Given the description of an element on the screen output the (x, y) to click on. 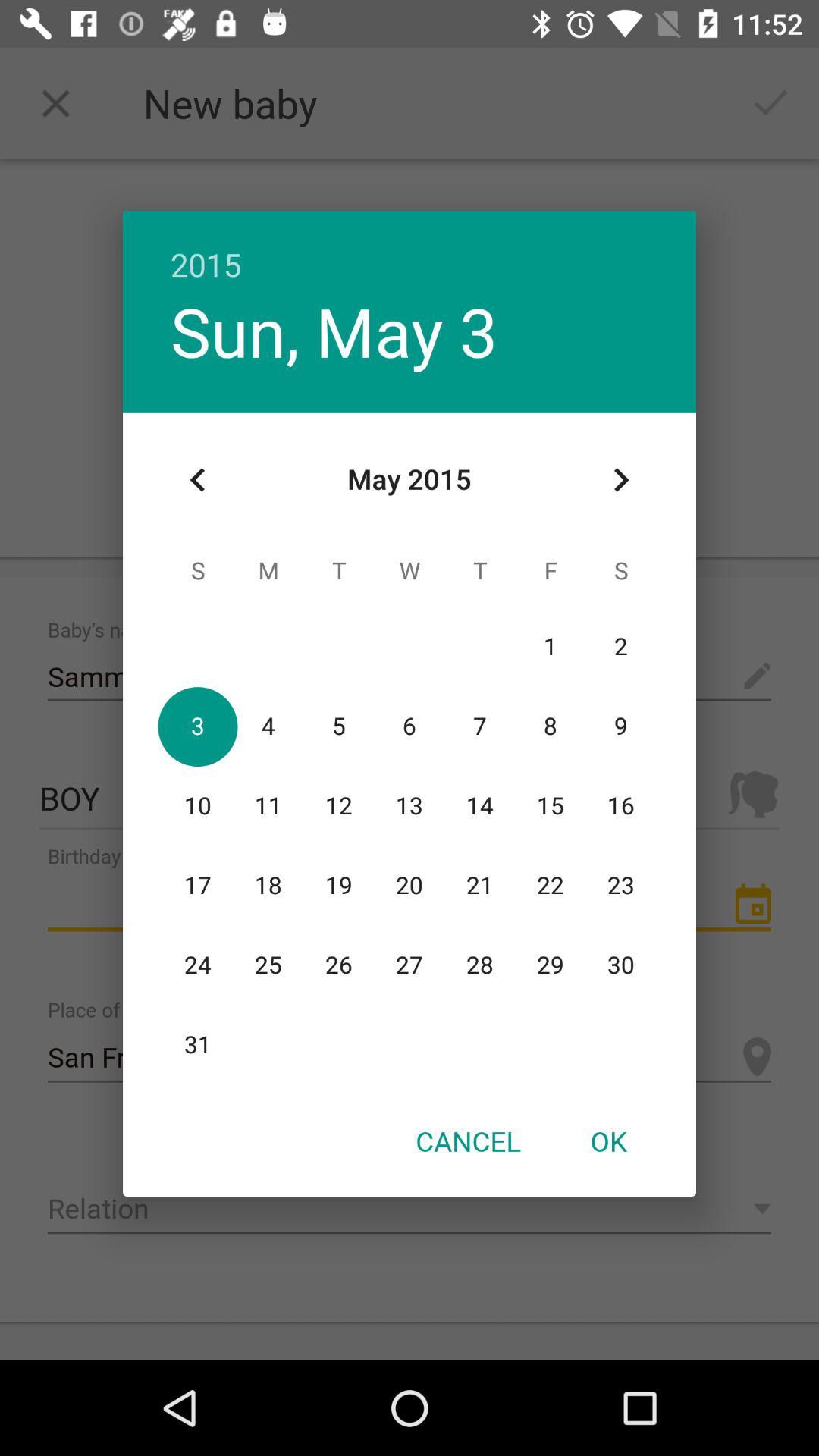
swipe until the ok icon (608, 1140)
